Given the description of an element on the screen output the (x, y) to click on. 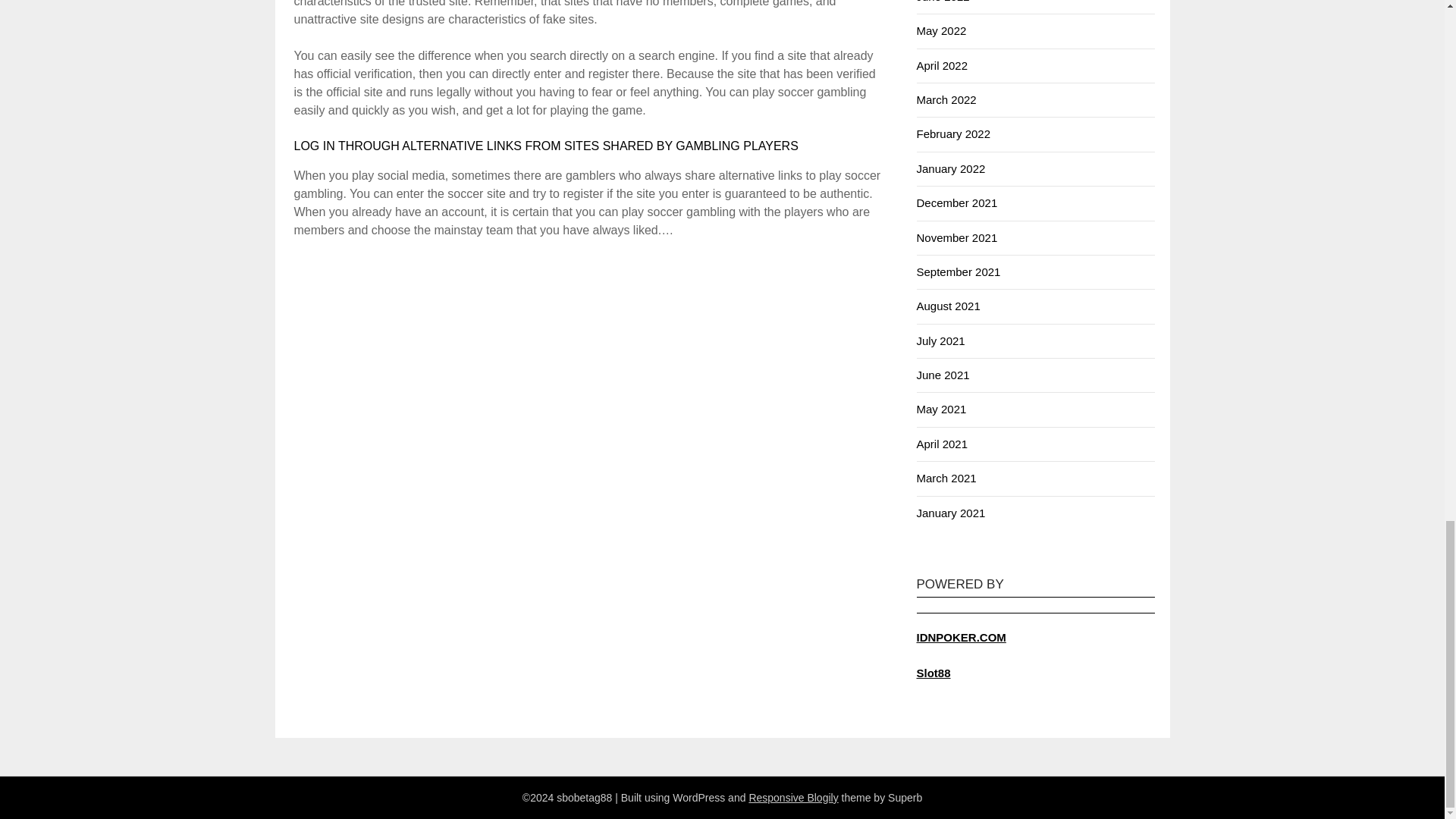
December 2021 (956, 202)
November 2021 (956, 237)
May 2022 (940, 30)
February 2022 (952, 133)
March 2022 (945, 99)
April 2022 (941, 65)
June 2022 (942, 1)
January 2022 (950, 168)
